Given the description of an element on the screen output the (x, y) to click on. 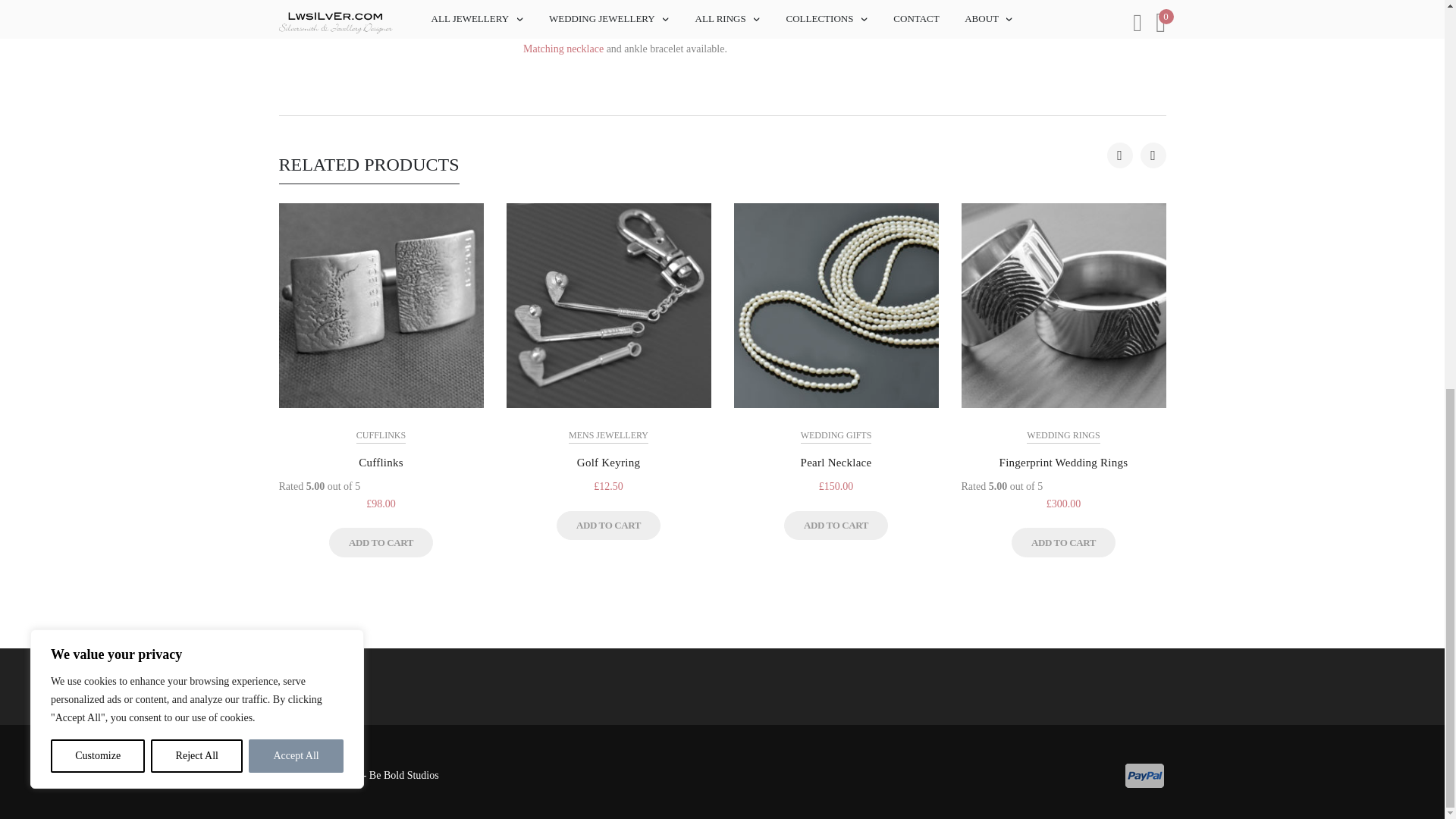
Reject All (197, 16)
Pearl Necklace (563, 48)
Accept All (295, 16)
Customize (97, 16)
